Given the description of an element on the screen output the (x, y) to click on. 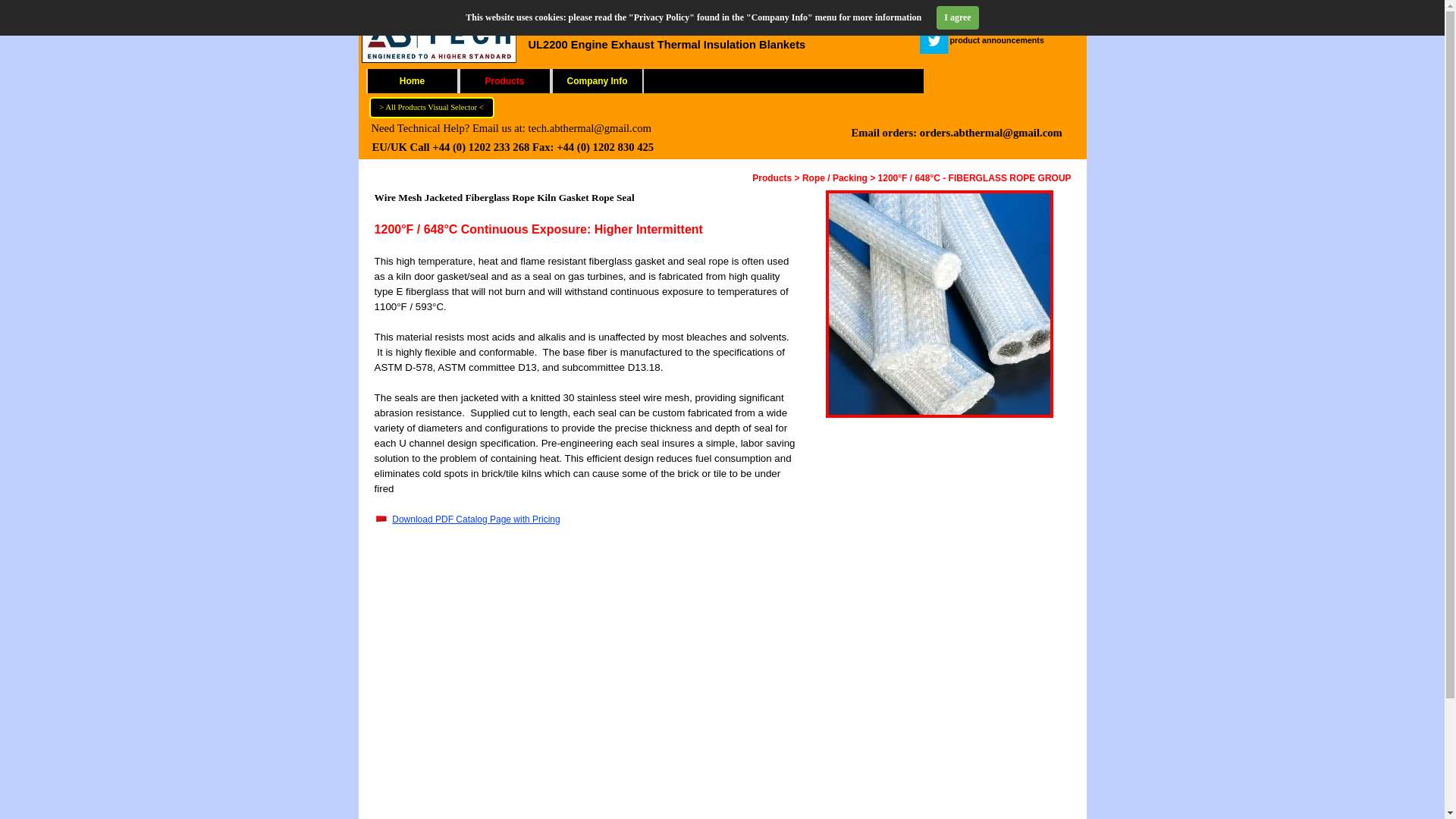
Home (411, 80)
